Given the description of an element on the screen output the (x, y) to click on. 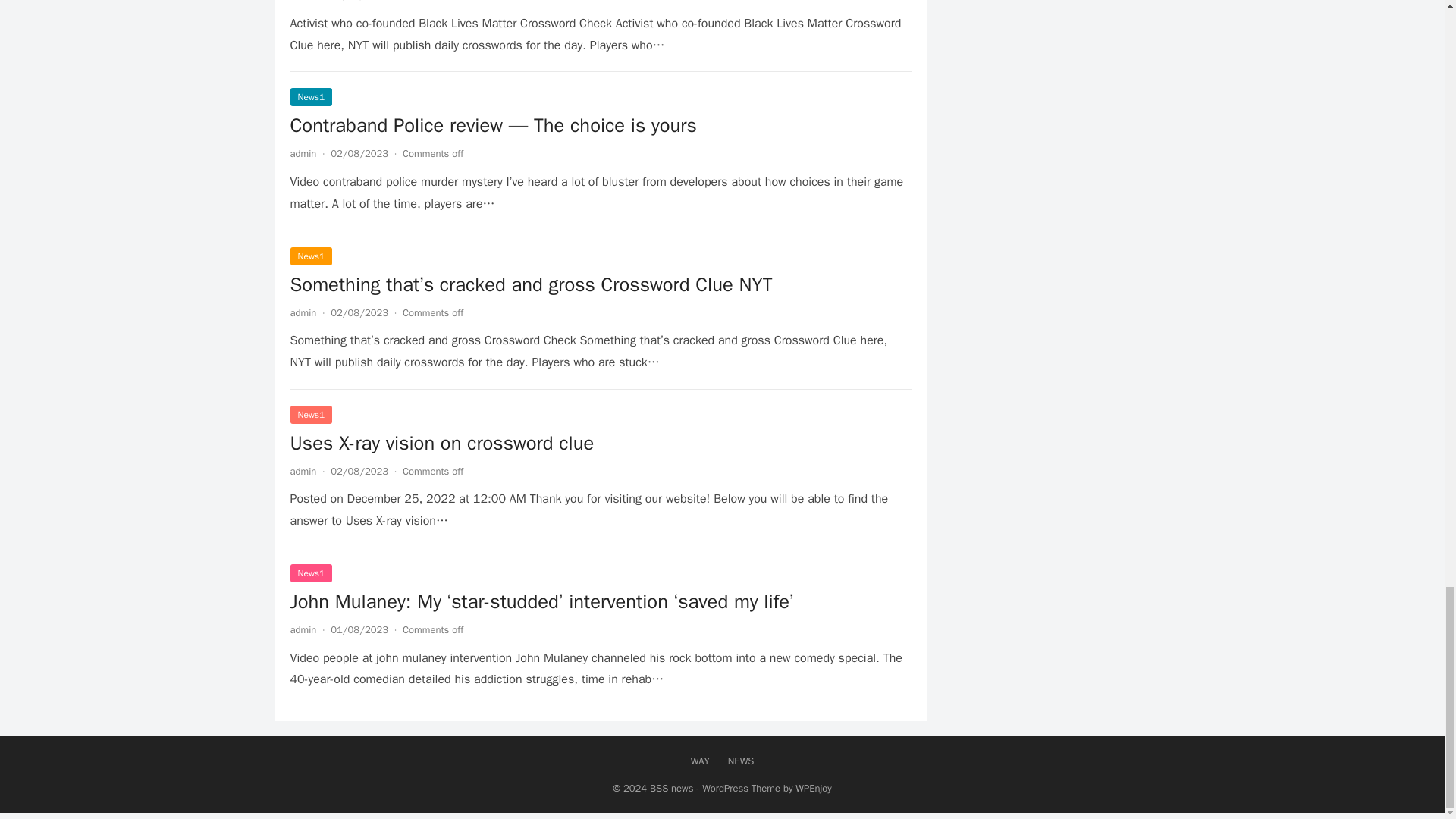
News1 (310, 96)
admin (302, 0)
News1 (310, 414)
News1 (310, 256)
admin (302, 471)
admin (302, 153)
Posts by admin (302, 629)
Posts by admin (302, 312)
Posts by admin (302, 153)
admin (302, 629)
